Given the description of an element on the screen output the (x, y) to click on. 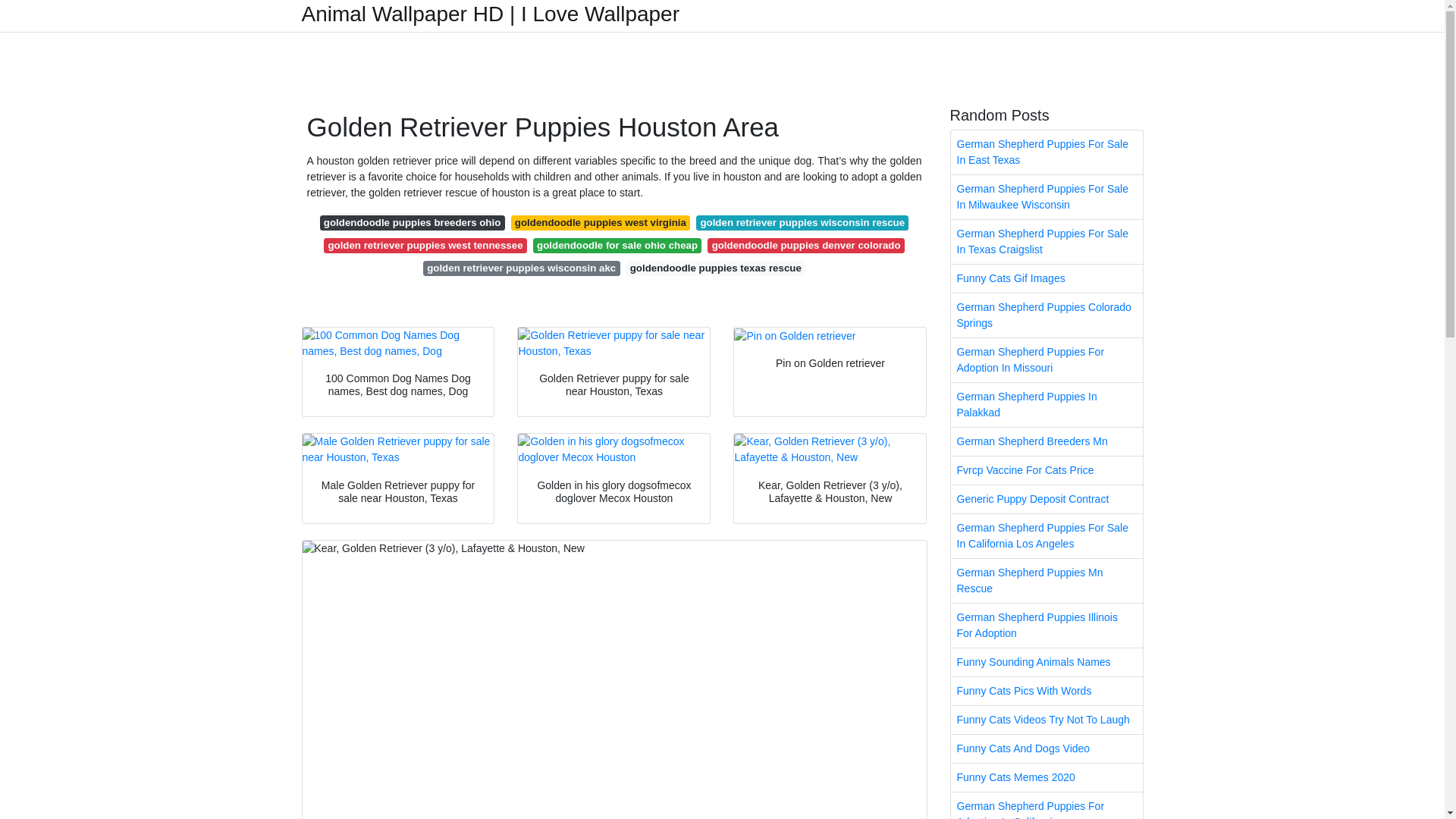
Generic Puppy Deposit Contract (1046, 499)
German Shepherd Puppies In Palakkad (1046, 404)
golden retriever puppies wisconsin rescue (801, 222)
goldendoodle puppies denver colorado (805, 245)
goldendoodle puppies breeders ohio (412, 222)
golden retriever puppies wisconsin akc (521, 268)
German Shepherd Puppies For Sale In East Texas (1046, 152)
goldendoodle puppies texas rescue (715, 268)
golden retriever puppies west tennessee (425, 245)
German Shepherd Puppies For Adoption In Missouri (1046, 360)
Fvrcp Vaccine For Cats Price (1046, 470)
goldendoodle puppies west virginia (600, 222)
German Shepherd Puppies For Sale In Texas Craigslist (1046, 241)
German Shepherd Puppies Colorado Springs (1046, 315)
Funny Cats Gif Images (1046, 278)
